Given the description of an element on the screen output the (x, y) to click on. 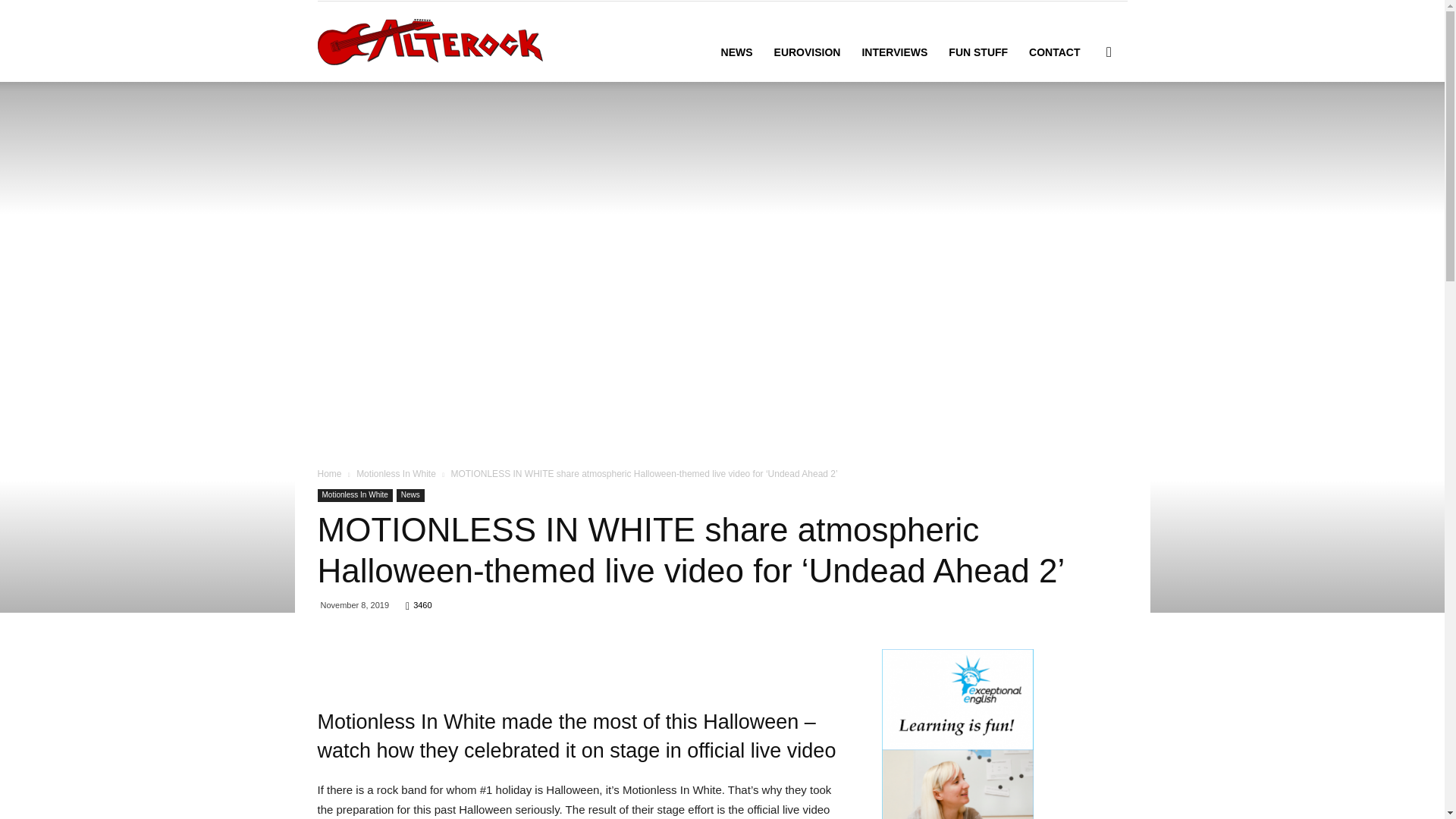
Search (1085, 124)
AlteRock (429, 41)
NEWS (736, 51)
